Given the description of an element on the screen output the (x, y) to click on. 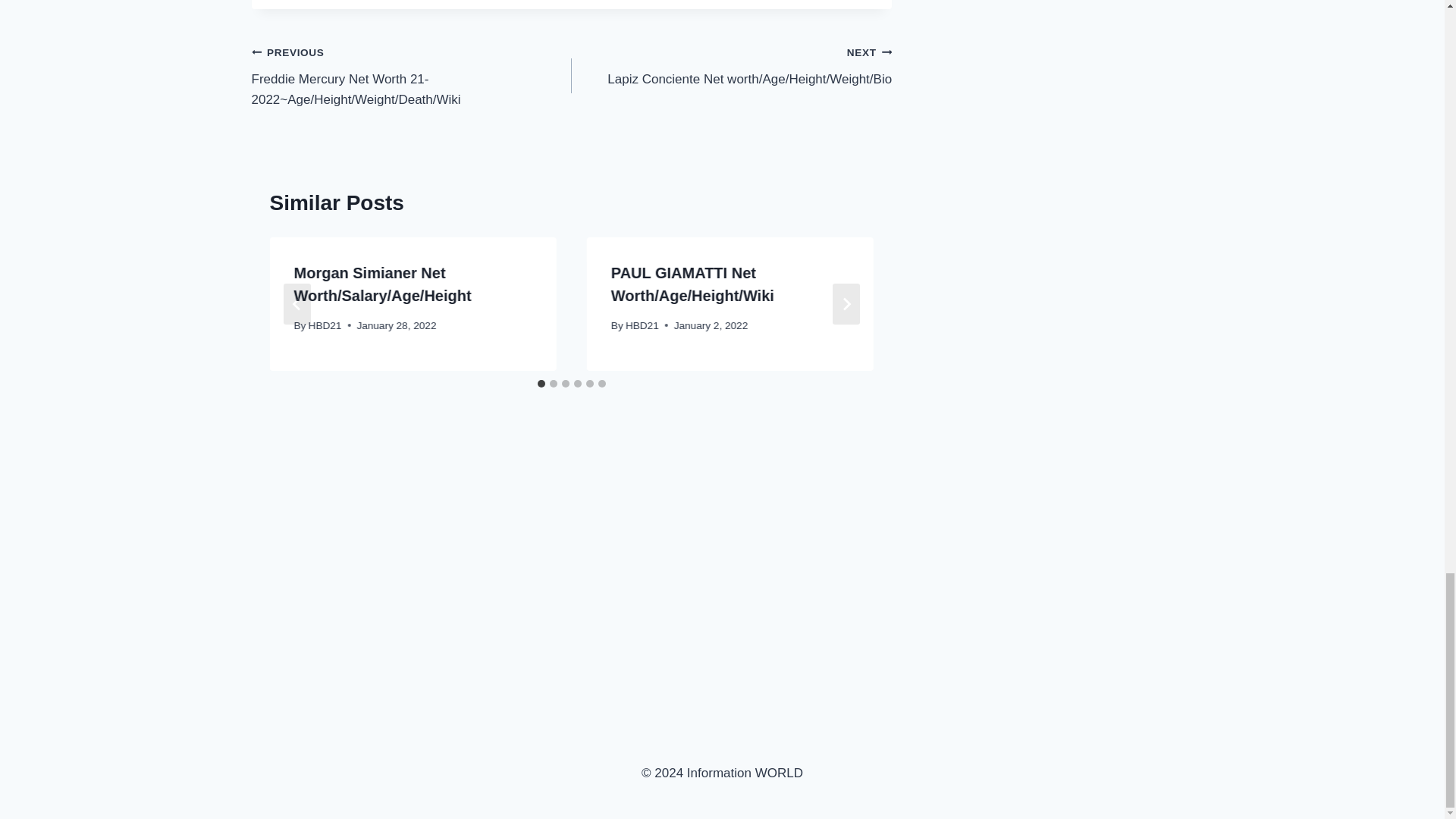
HBD21 (642, 325)
HBD21 (325, 325)
